Given the description of an element on the screen output the (x, y) to click on. 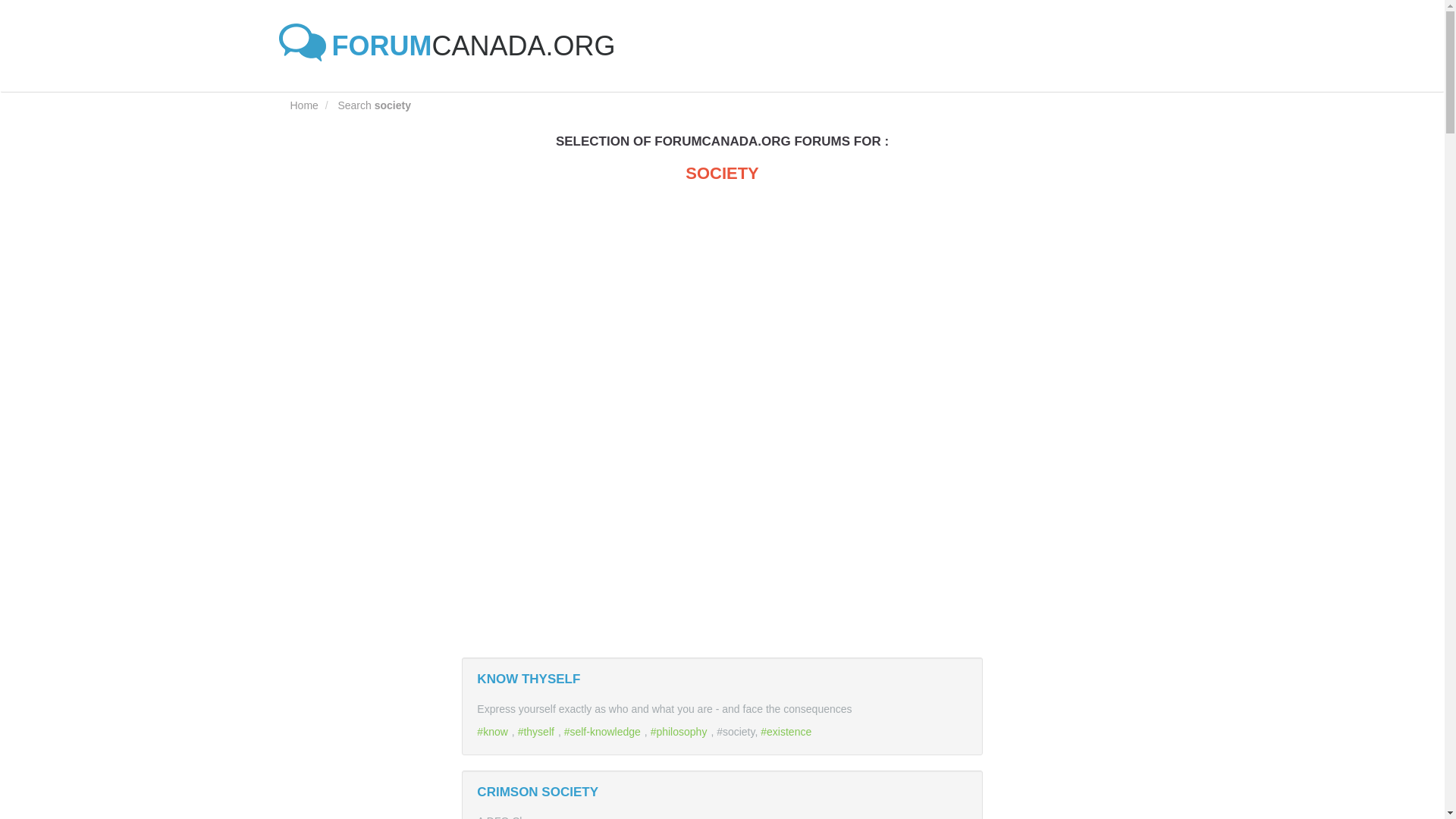
Home (303, 105)
Know Thyself (528, 678)
FORUMCANADA.ORG (453, 45)
existence (787, 731)
know (494, 731)
thyself (537, 731)
thyself (537, 731)
KNOW THYSELF (528, 678)
self-knowledge (604, 731)
philosophy (680, 731)
philosophy (680, 731)
CRIMSON SOCIETY (537, 790)
self-knowledge (604, 731)
existence (787, 731)
